Given the description of an element on the screen output the (x, y) to click on. 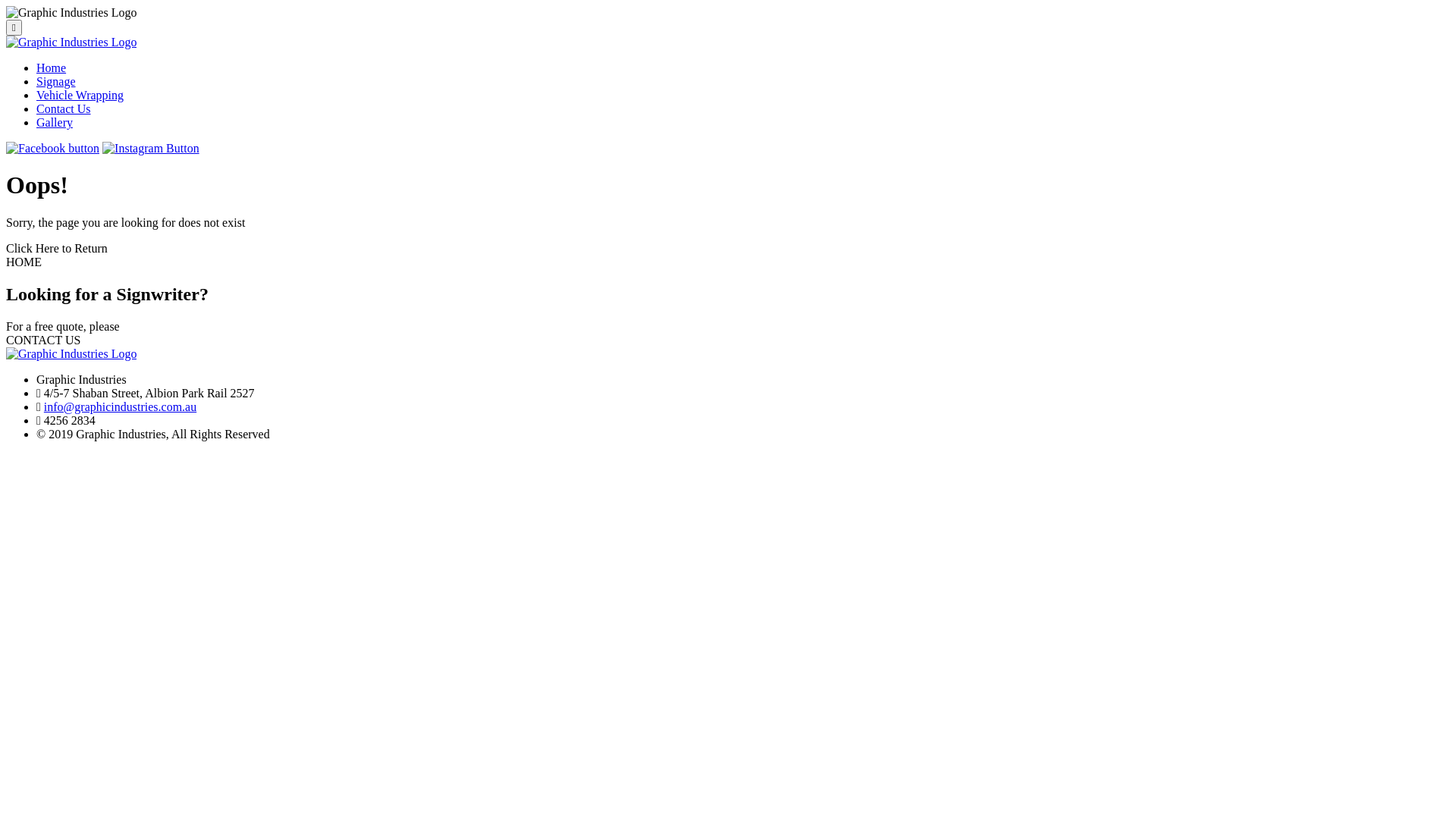
info@graphicindustries.com.au Element type: text (119, 406)
For a free quote, please
CONTACT US Element type: text (727, 333)
Signage Element type: text (55, 81)
Click Here to Return
HOME Element type: text (727, 255)
Contact Us Element type: text (63, 108)
Gallery Element type: text (54, 122)
Home Element type: text (50, 67)
Vehicle Wrapping Element type: text (79, 94)
